Given the description of an element on the screen output the (x, y) to click on. 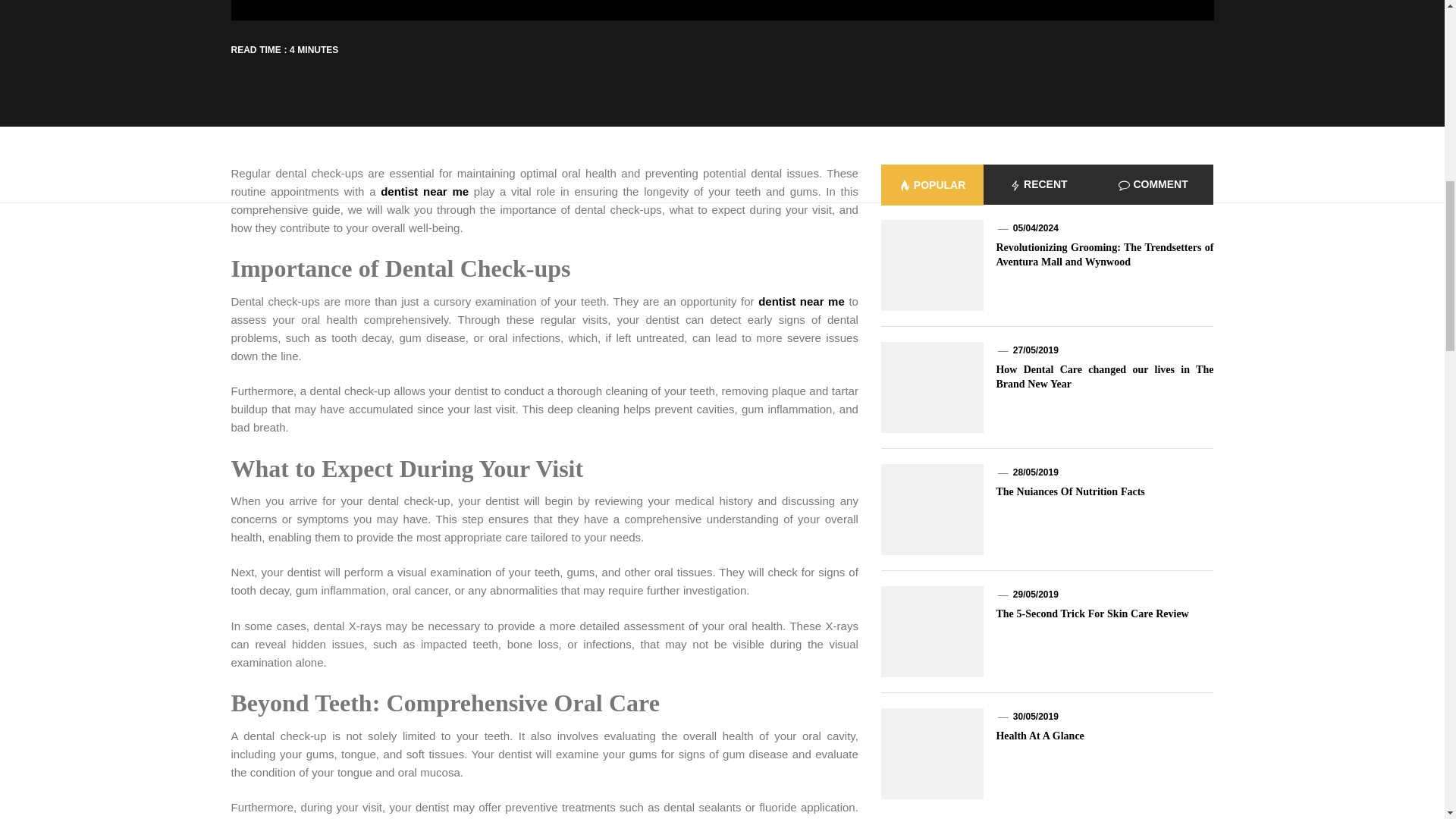
dentist near me (424, 191)
RECENT (1038, 184)
COMMENT (1152, 184)
POPULAR (932, 184)
dentist near me (801, 300)
